Given the description of an element on the screen output the (x, y) to click on. 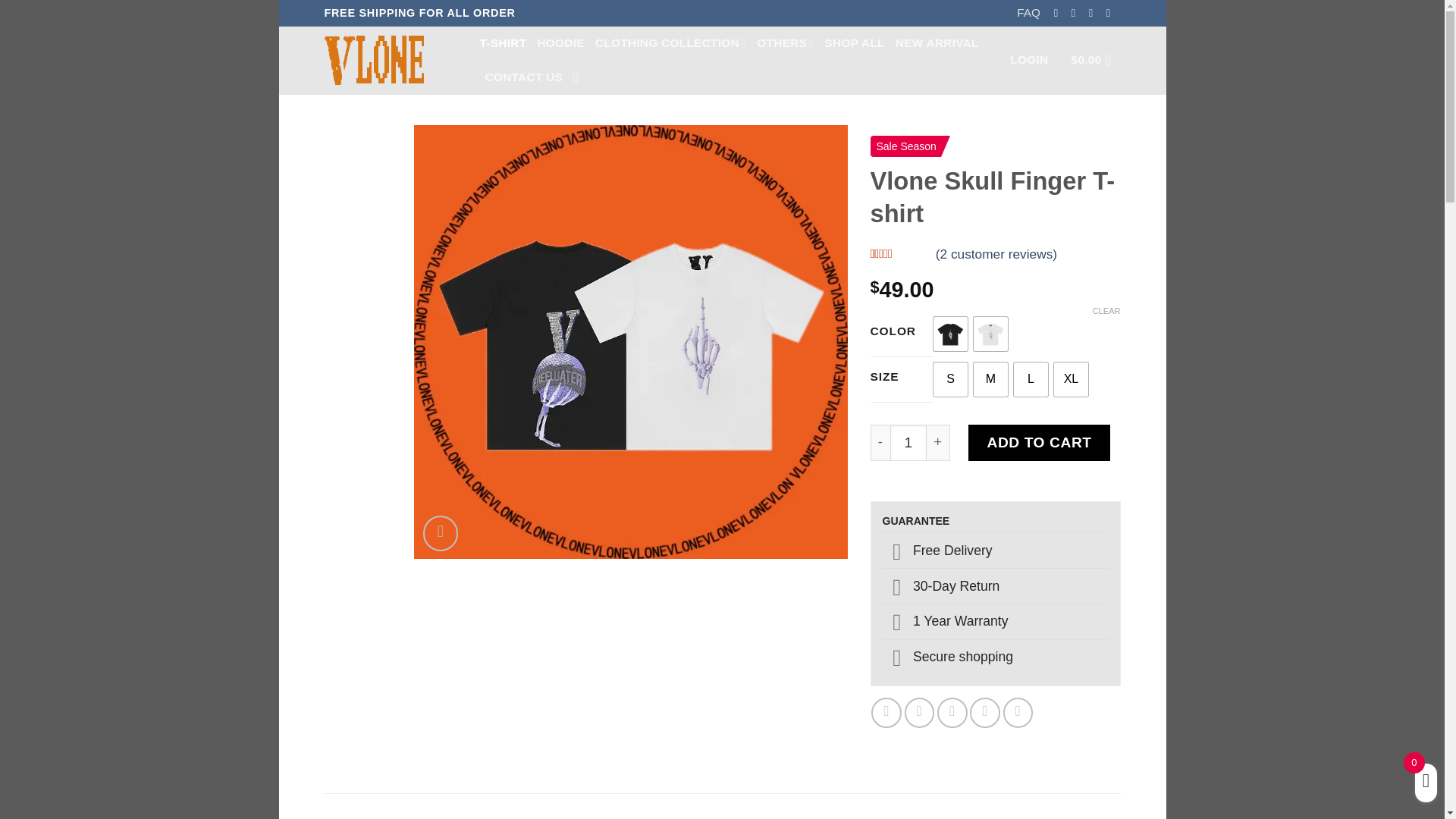
CLOTHING COLLECTION (670, 43)
OTHERS (785, 43)
HOODIE (560, 43)
T-SHIRT (502, 43)
CONTACT US (523, 77)
SHOP ALL (855, 43)
VLONE - Vlone (390, 60)
